Given the description of an element on the screen output the (x, y) to click on. 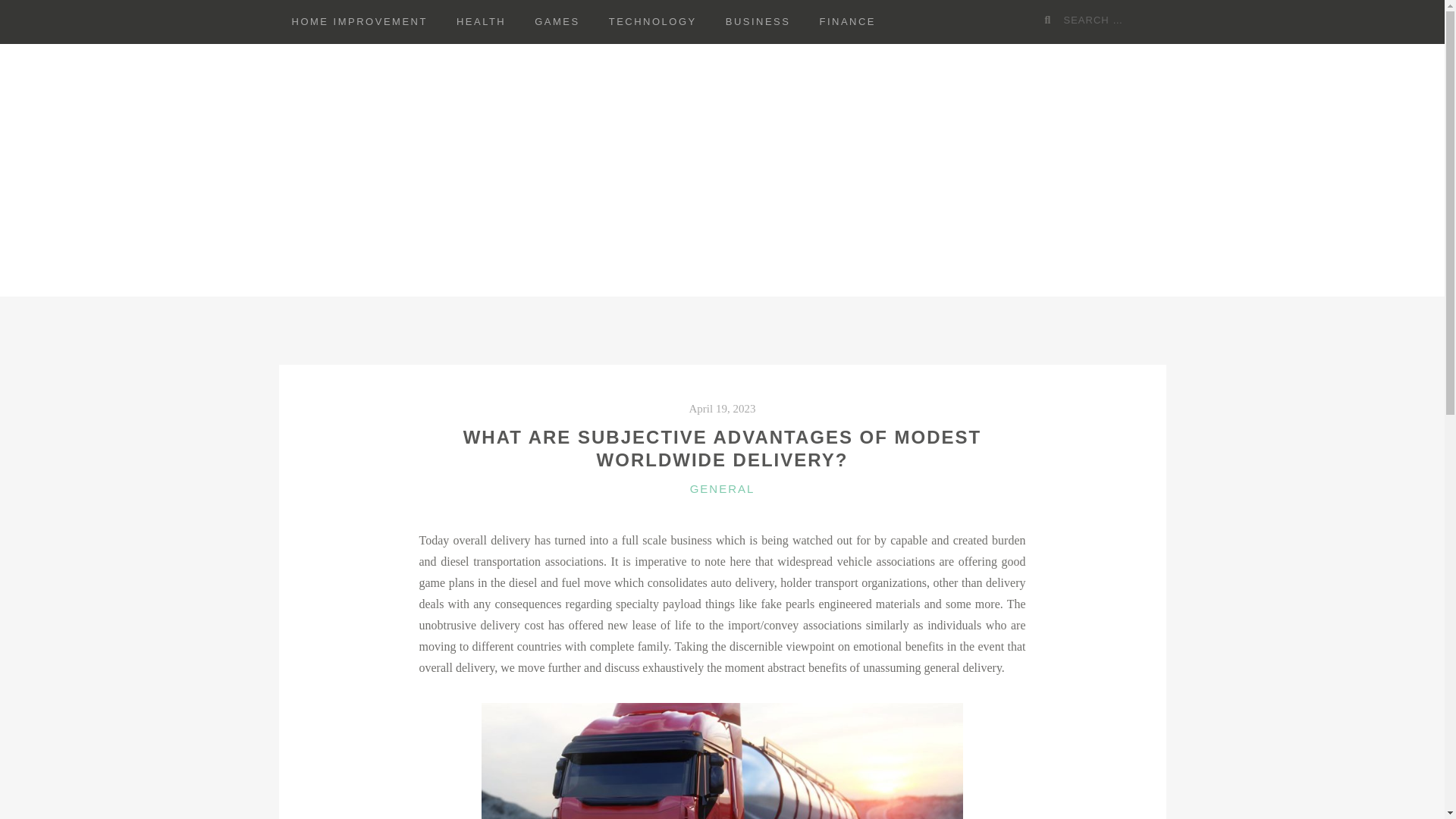
GAMES (556, 21)
TECHNOLOGY (652, 21)
April 19, 2023 (721, 408)
BUSINESS (758, 21)
FINANCE (847, 21)
GENERAL (722, 488)
HOME IMPROVEMENT (360, 21)
HEALTH (481, 21)
